Given the description of an element on the screen output the (x, y) to click on. 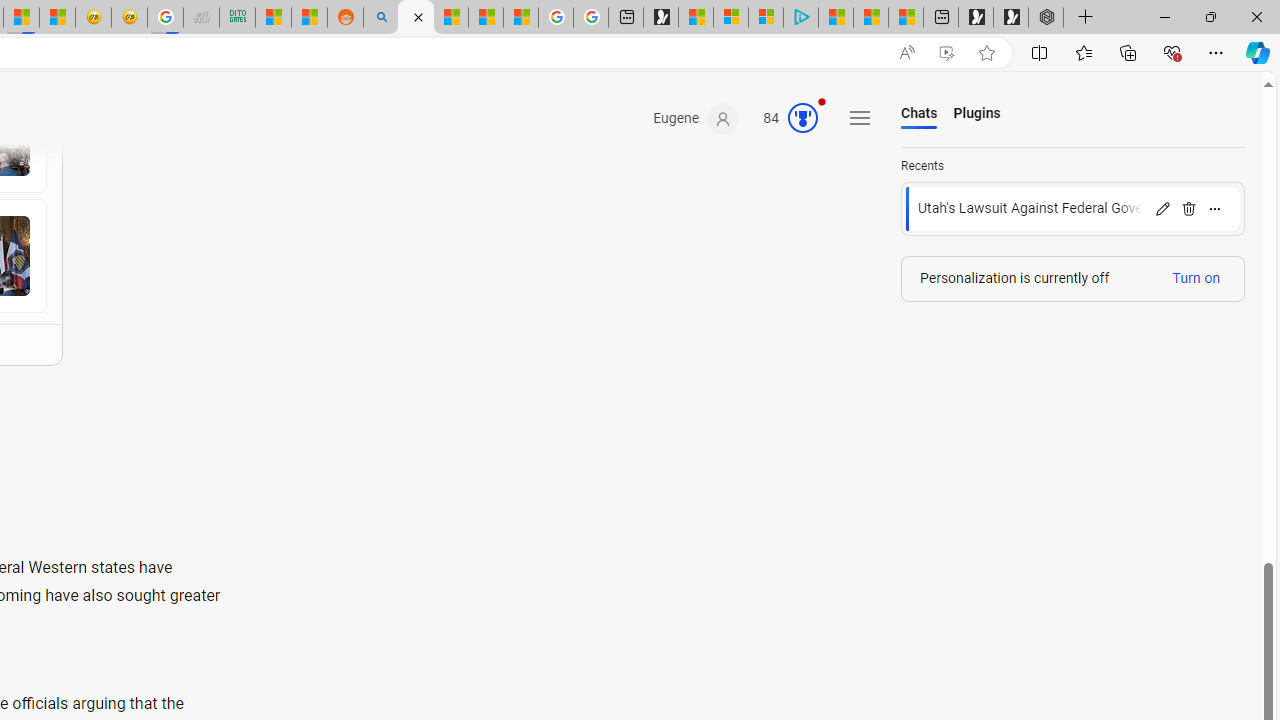
Load chat (1073, 209)
Plugins (976, 113)
Microsoft Rewards 84 (783, 119)
Turn on (1196, 278)
Delete (1188, 208)
Microsoft Copilot in Bing (415, 17)
